Given the description of an element on the screen output the (x, y) to click on. 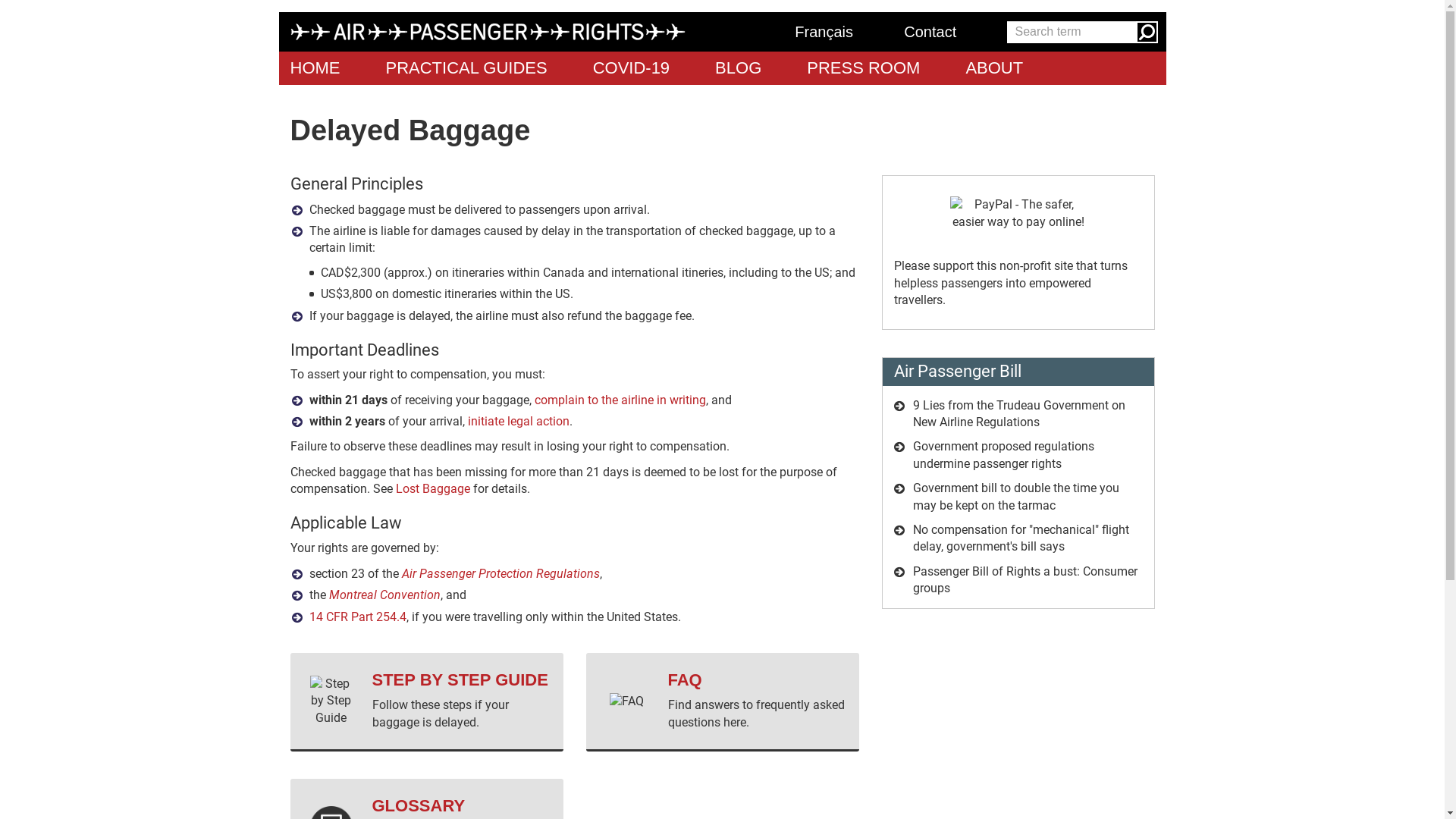
initiate legal action Element type: text (517, 421)
Contact Element type: text (942, 31)
FAQ
Find answers to frequently asked questions here. Element type: text (721, 701)
Montreal Convention Element type: text (384, 594)
BLOG Element type: text (737, 67)
Government proposed regulations undermine passenger rights Element type: text (1003, 454)
Lost Baggage Element type: text (432, 488)
COVID-19 Element type: text (630, 67)
Air Passenger Rights Element type: hover (524, 31)
Passenger Bill of Rights a bust: Consumer groups Element type: text (1025, 579)
Air Passenger Protection Regulations Element type: text (500, 573)
14 CFR Part 254.4 Element type: text (357, 616)
HOME Element type: text (315, 67)
complain to the airline in writing Element type: text (619, 399)
